Given the description of an element on the screen output the (x, y) to click on. 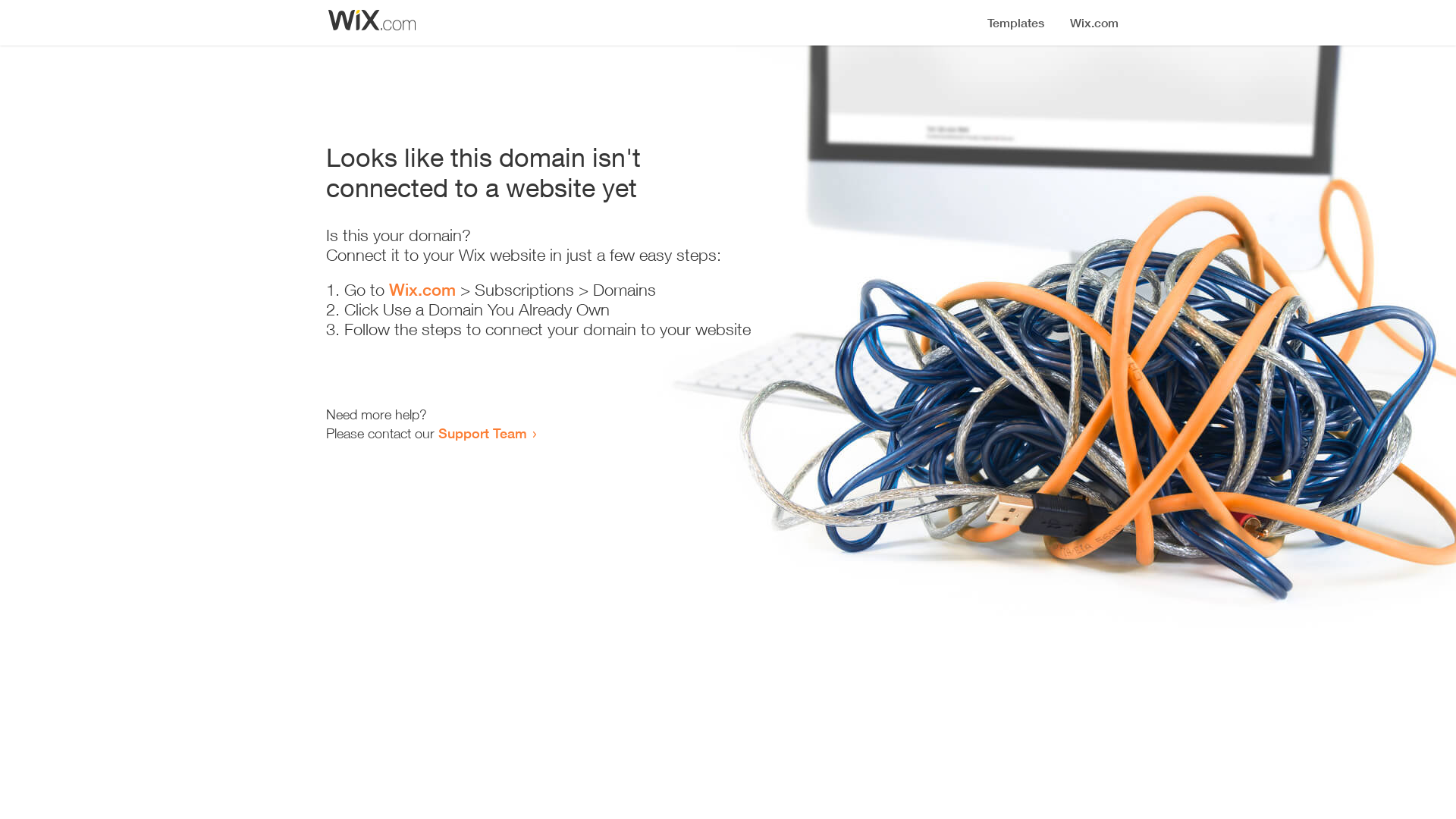
Wix.com Element type: text (422, 289)
Support Team Element type: text (482, 432)
